Given the description of an element on the screen output the (x, y) to click on. 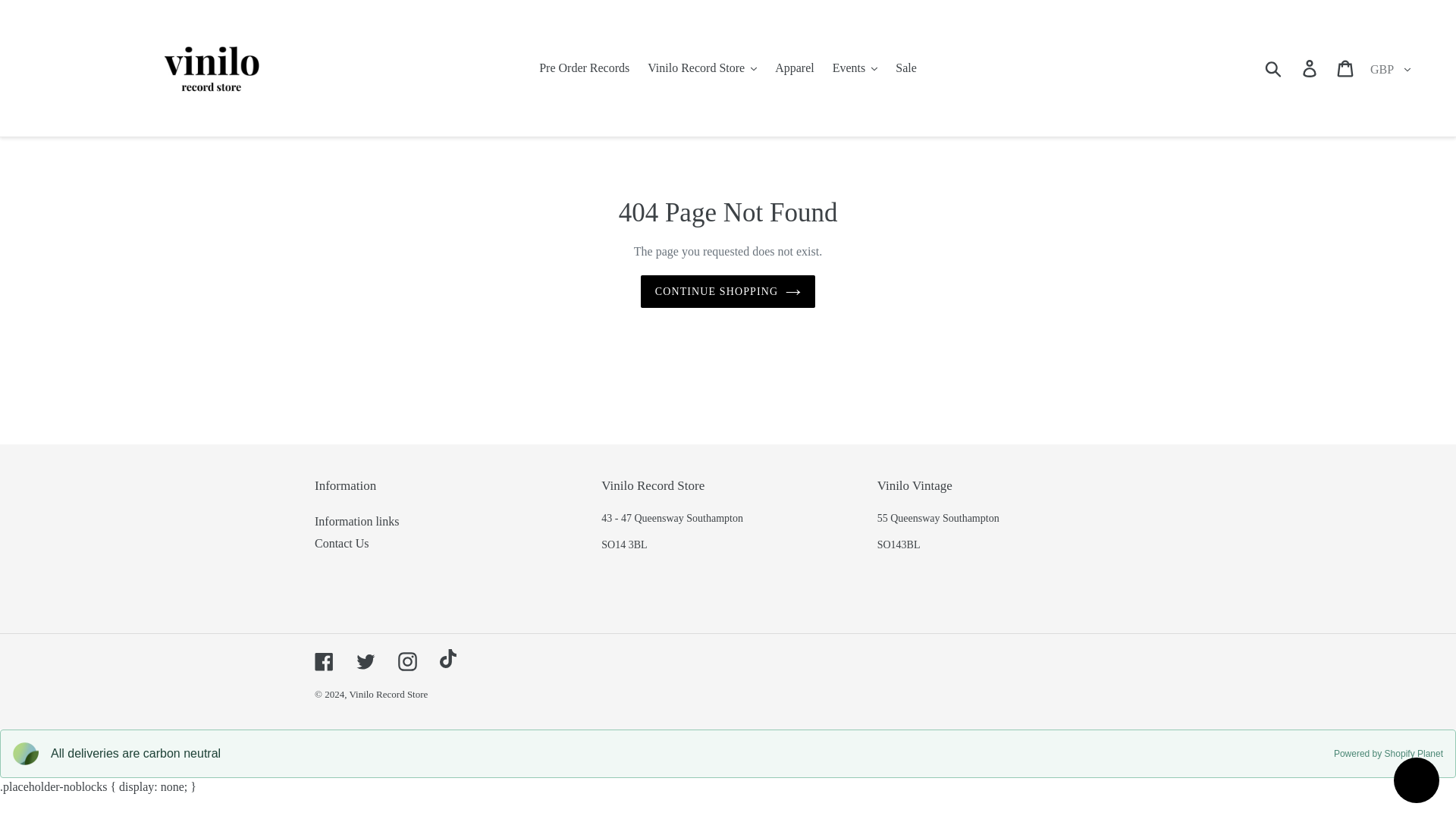
Apparel (794, 67)
Log in (1309, 68)
Sale (906, 67)
Cart (1345, 68)
Submit (1273, 68)
Pre Order Records (584, 67)
